Given the description of an element on the screen output the (x, y) to click on. 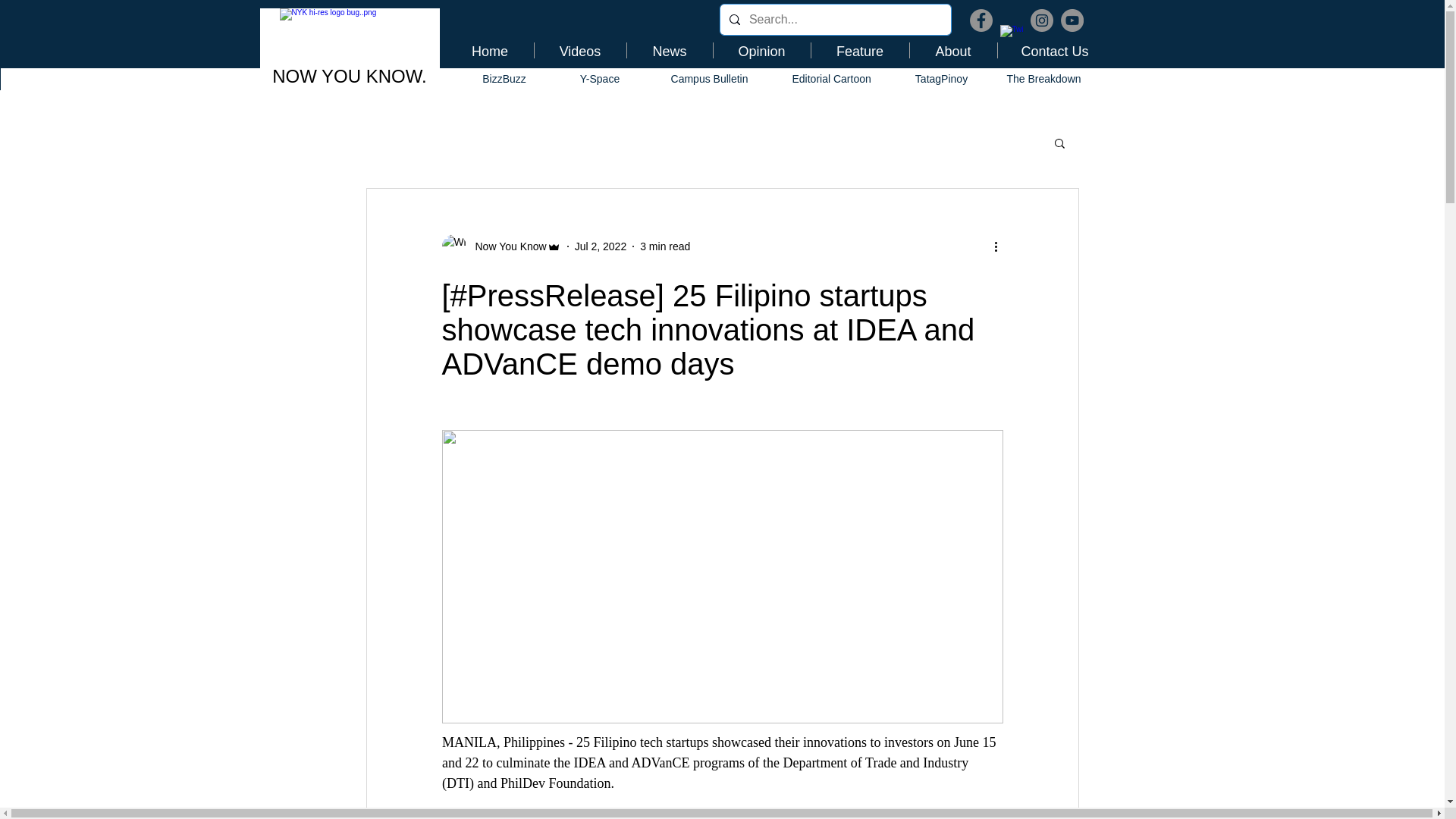
Home (488, 50)
Campus Bulletin (709, 79)
BizzBuzz (503, 79)
About (953, 50)
Feature (859, 50)
Editorial Cartoon (831, 79)
The Breakdown (1043, 79)
Opinion (761, 50)
Now You Know (505, 245)
News (668, 50)
